Given the description of an element on the screen output the (x, y) to click on. 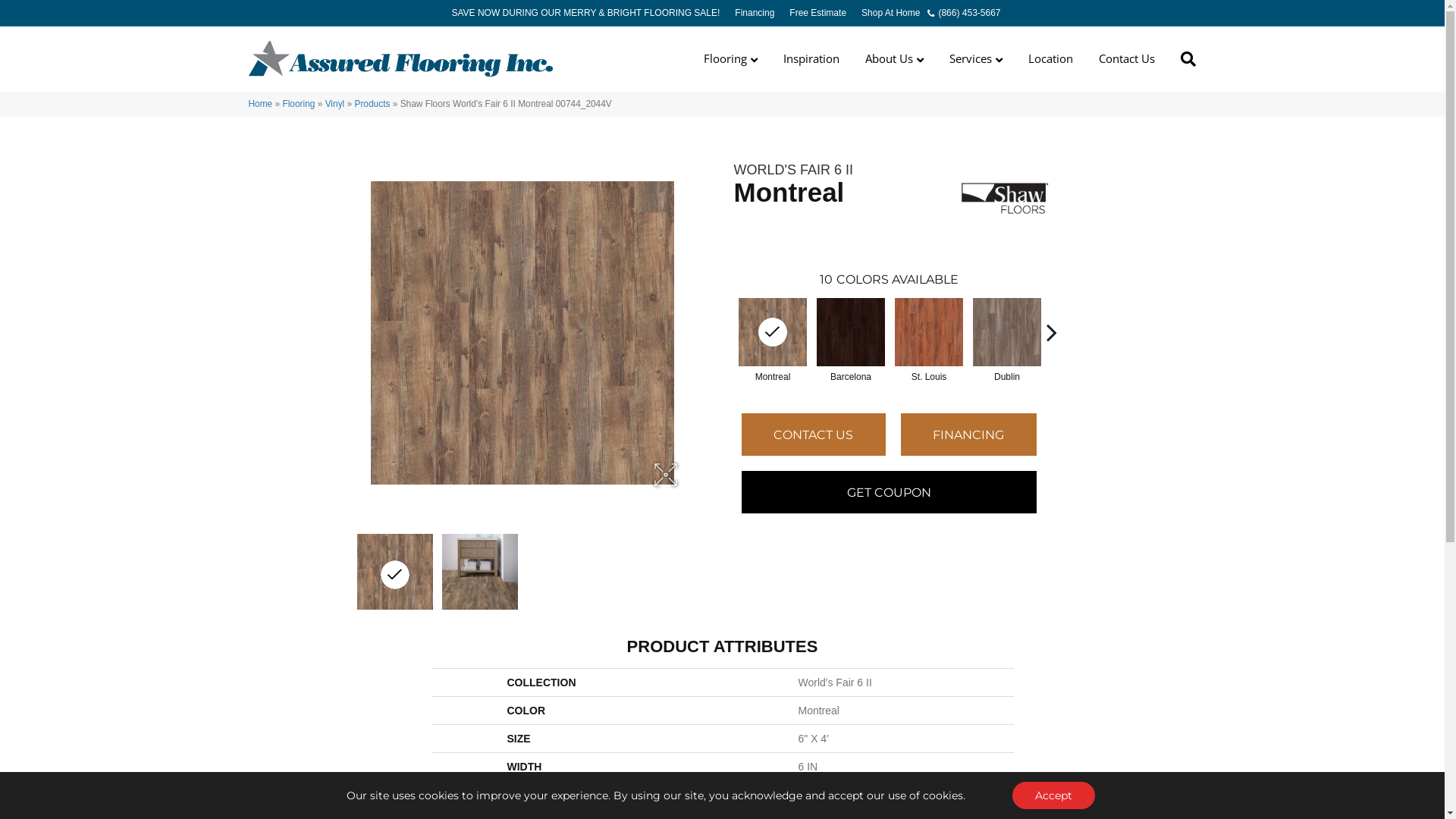
CONTACT US Element type: text (813, 434)
Accept Element type: text (1053, 795)
Flooring Element type: text (730, 58)
Shop At Home Element type: text (890, 12)
Location Element type: text (1050, 58)
(866) 453-5667 Element type: text (963, 12)
Financing Element type: text (754, 12)
GET COUPON Element type: text (888, 491)
SAVE NOW DURING OUR MERRY & BRIGHT FLOORING SALE! Element type: text (585, 12)
Vinyl Element type: text (335, 103)
Services Element type: text (975, 58)
Free Estimate Element type: text (817, 12)
Contact Us Element type: text (1126, 58)
Inspiration Element type: text (811, 58)
Flooring Element type: text (298, 103)
Next Element type: text (1051, 331)
About Us Element type: text (894, 58)
Products Element type: text (371, 103)
FINANCING Element type: text (968, 434)
Home Element type: text (260, 103)
